Given the description of an element on the screen output the (x, y) to click on. 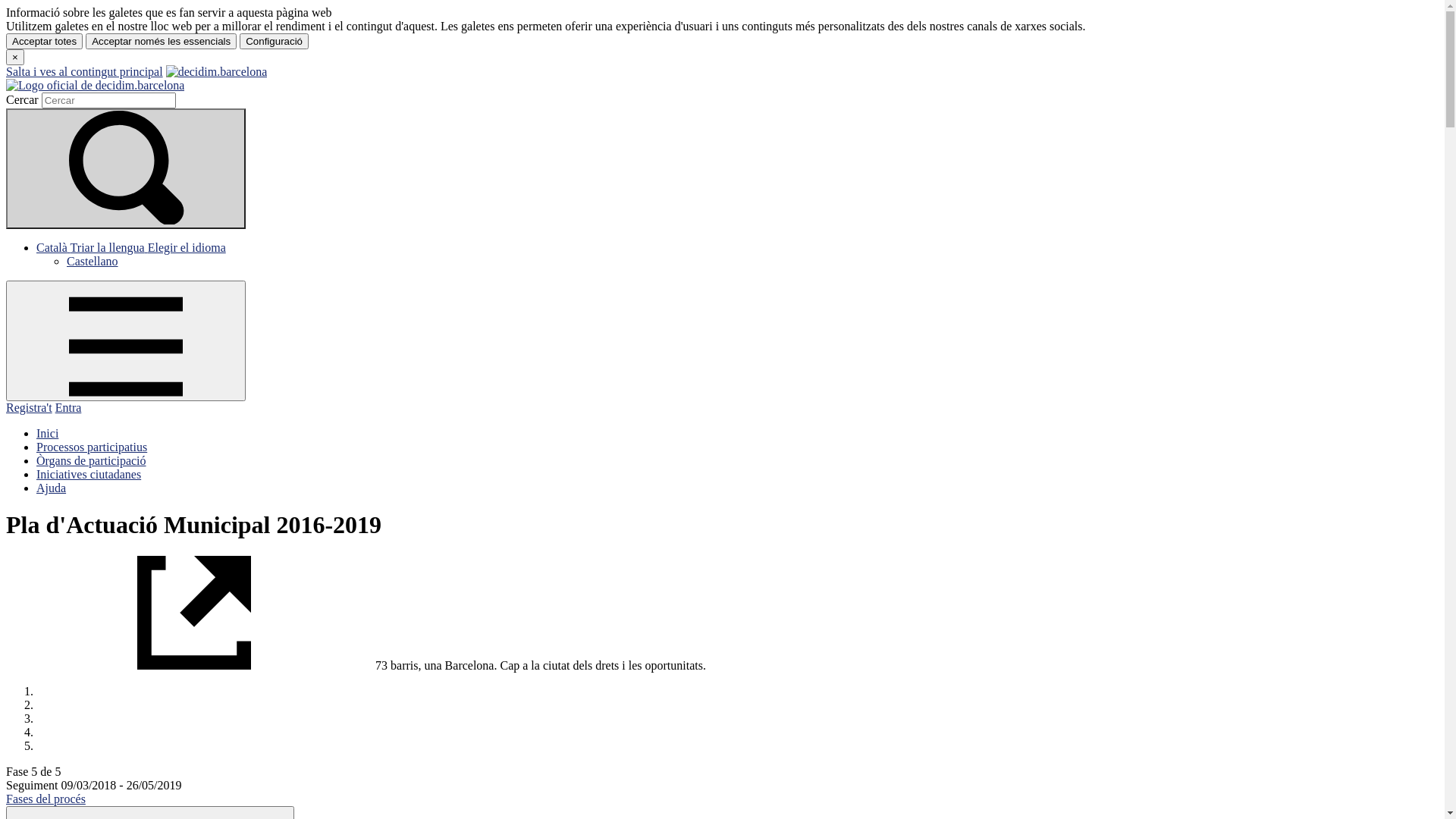
Castellano Element type: text (92, 260)
Registra't Element type: text (29, 407)
#PlaMunicipal external-link(Link extern) Element type: text (189, 664)
Inici Element type: text (47, 432)
Iniciatives ciutadanes Element type: text (88, 473)
Processos participatius Element type: text (91, 446)
Cercar Element type: hover (108, 100)
Cercar Element type: text (125, 168)
Entra Element type: text (68, 407)
Ajuda Element type: text (50, 487)
Salta i ves al contingut principal Element type: text (84, 71)
Acceptar totes Element type: text (44, 41)
